Given the description of an element on the screen output the (x, y) to click on. 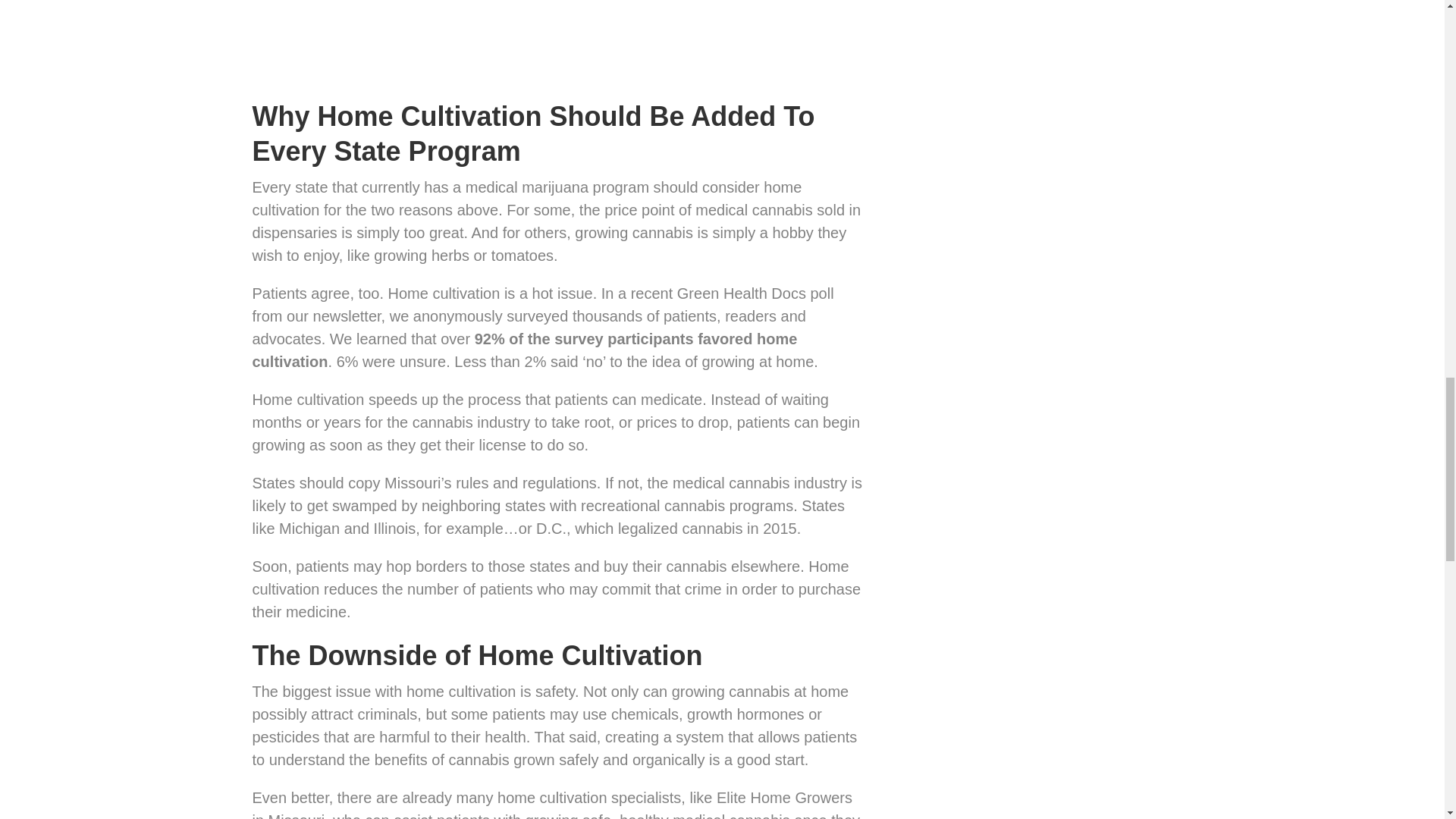
Missouri Rules For Growing Medical Marijuana At Home (440, 38)
